Given the description of an element on the screen output the (x, y) to click on. 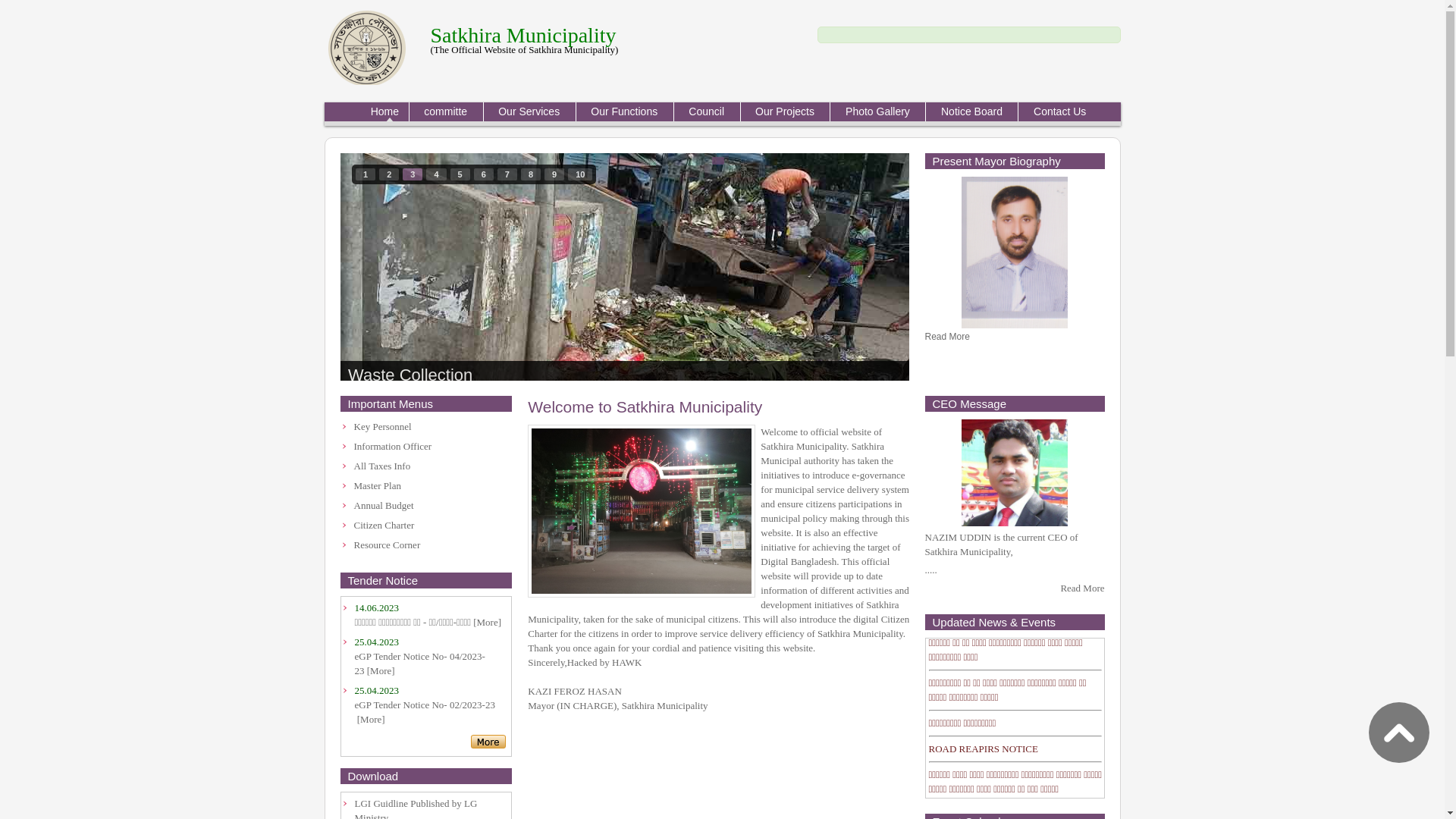
prev Element type: text (382, 263)
    committe     Element type: text (445, 111)
All Taxes Info Element type: text (381, 465)
Read More Element type: text (1082, 587)
    Council     Element type: text (706, 111)
Citizen Charter Element type: text (383, 524)
Read More Element type: text (947, 336)
[More] Element type: text (371, 718)
    Contact Us Element type: text (1053, 111)
next Element type: text (866, 263)
    Our Functions     Element type: text (624, 111)
Information Officer Element type: text (392, 445)
Home   Element type: text (387, 111)
  Element type: text (1398, 739)
Annual Budget Element type: text (383, 505)
Resource Corner Element type: text (386, 544)
    Notice Board     Element type: text (970, 111)
Key Personnel Element type: text (382, 426)
Welcome to Satkhira Municipality Element type: text (644, 406)
Master Plan Element type: text (376, 485)
    Our Services     Element type: text (528, 111)
[More] Element type: text (381, 670)
    Photo Gallery     Element type: text (877, 111)
    Our Projects     Element type: text (784, 111)
[More] Element type: text (487, 621)
